Given the description of an element on the screen output the (x, y) to click on. 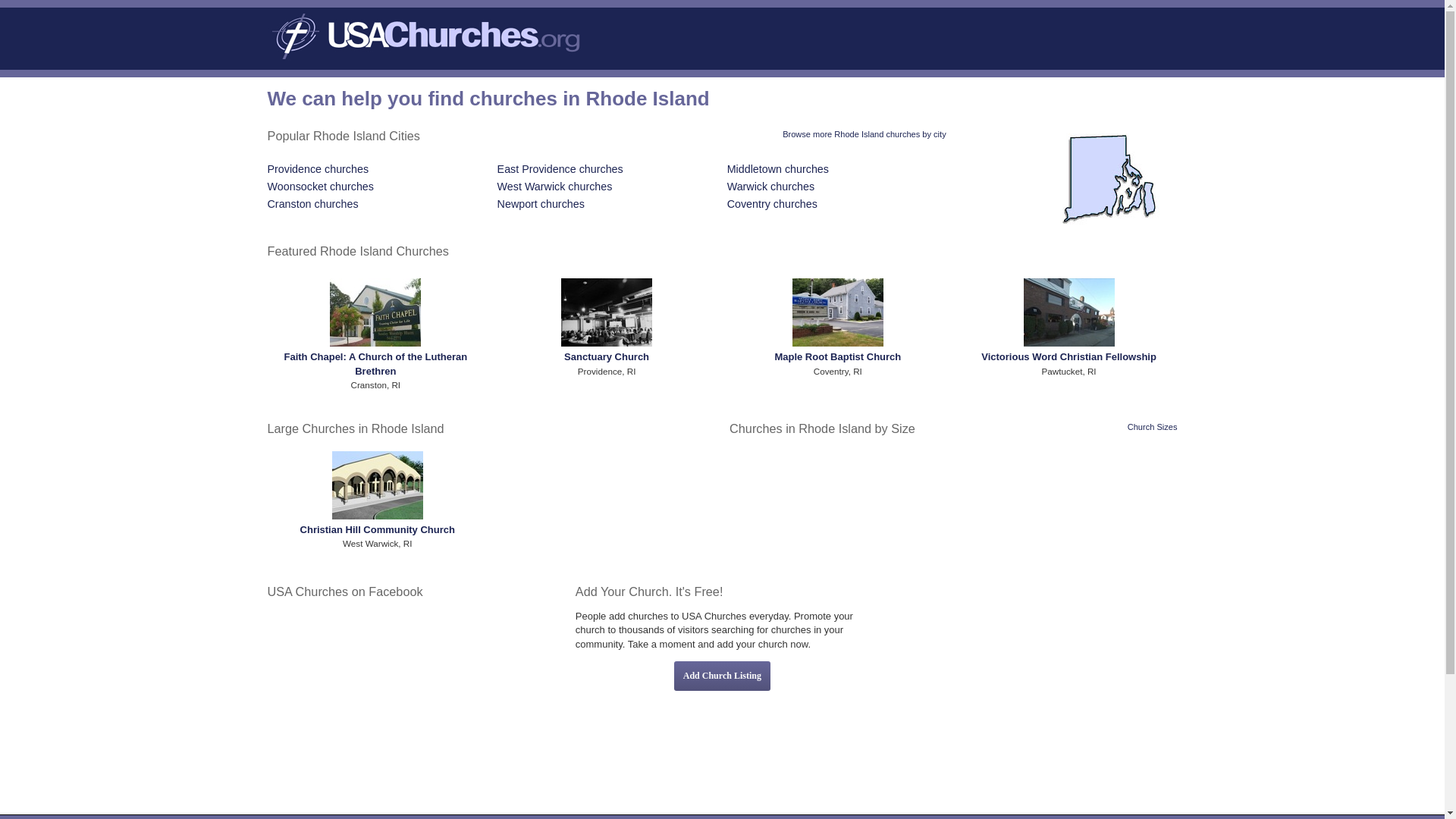
Add Church Listing (722, 675)
Christian Hill Community Church (376, 529)
Warwick churches (769, 186)
Browse more Rhode Island churches by city (864, 133)
Coventry churches (771, 203)
Newport churches (541, 203)
Victorious Word Christian Fellowship (1068, 356)
Sanctuary Church (606, 356)
Faith Chapel: A Church of the Lutheran Brethren (375, 363)
East Providence churches (560, 168)
Woonsocket churches (320, 186)
Cranston churches (312, 203)
Providence churches (318, 168)
Middletown churches (777, 168)
Church Sizes (1151, 426)
